Given the description of an element on the screen output the (x, y) to click on. 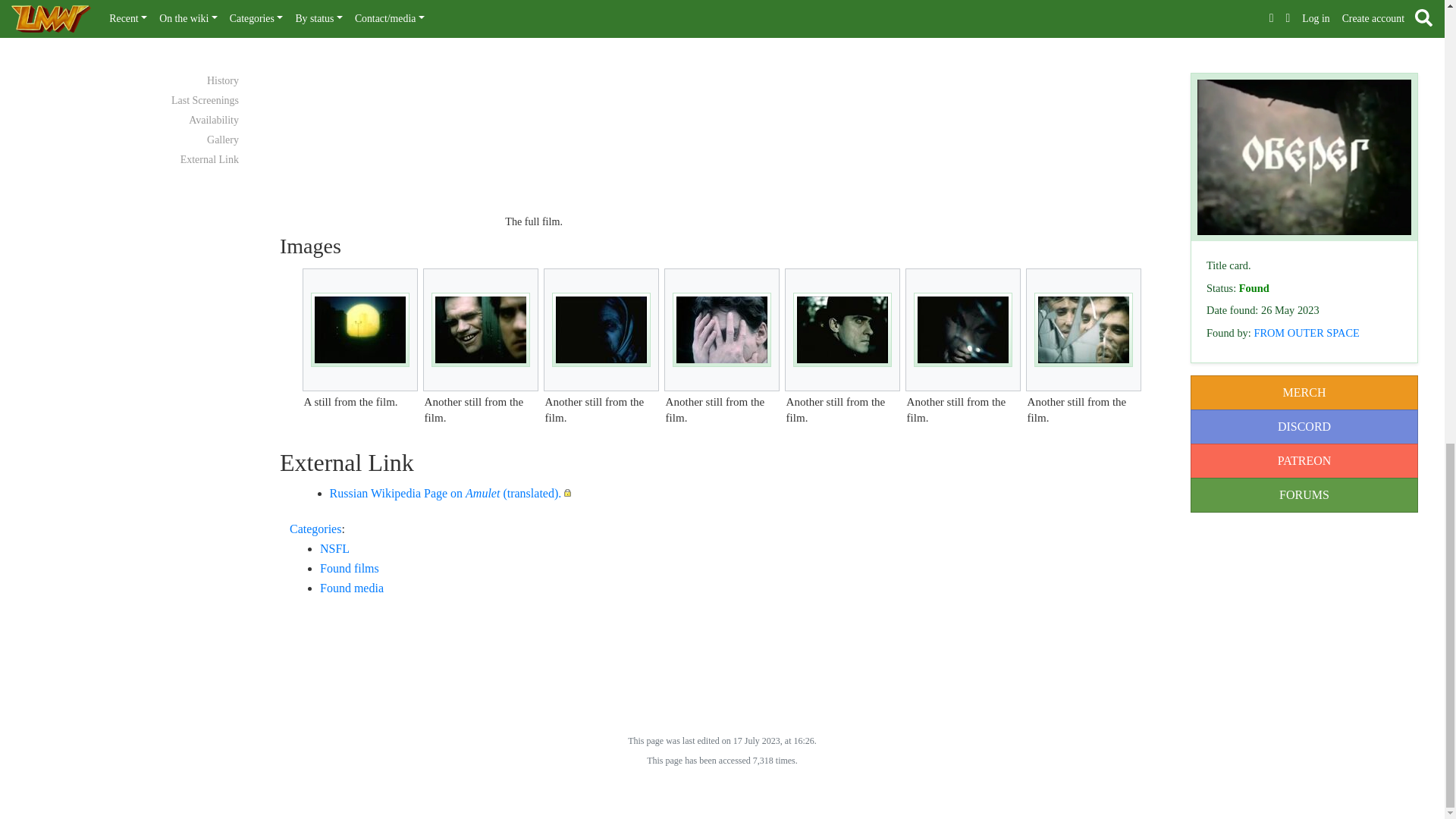
A still from the film. (360, 329)
Another still from the film. (1083, 329)
Category:Found films (349, 567)
Special:Categories (314, 528)
Another still from the film. (601, 329)
Another still from the film. (722, 329)
Category:NSFL (334, 548)
Another still from the film. (963, 329)
Another still from the film. (842, 329)
Another still from the film. (480, 329)
